Given the description of an element on the screen output the (x, y) to click on. 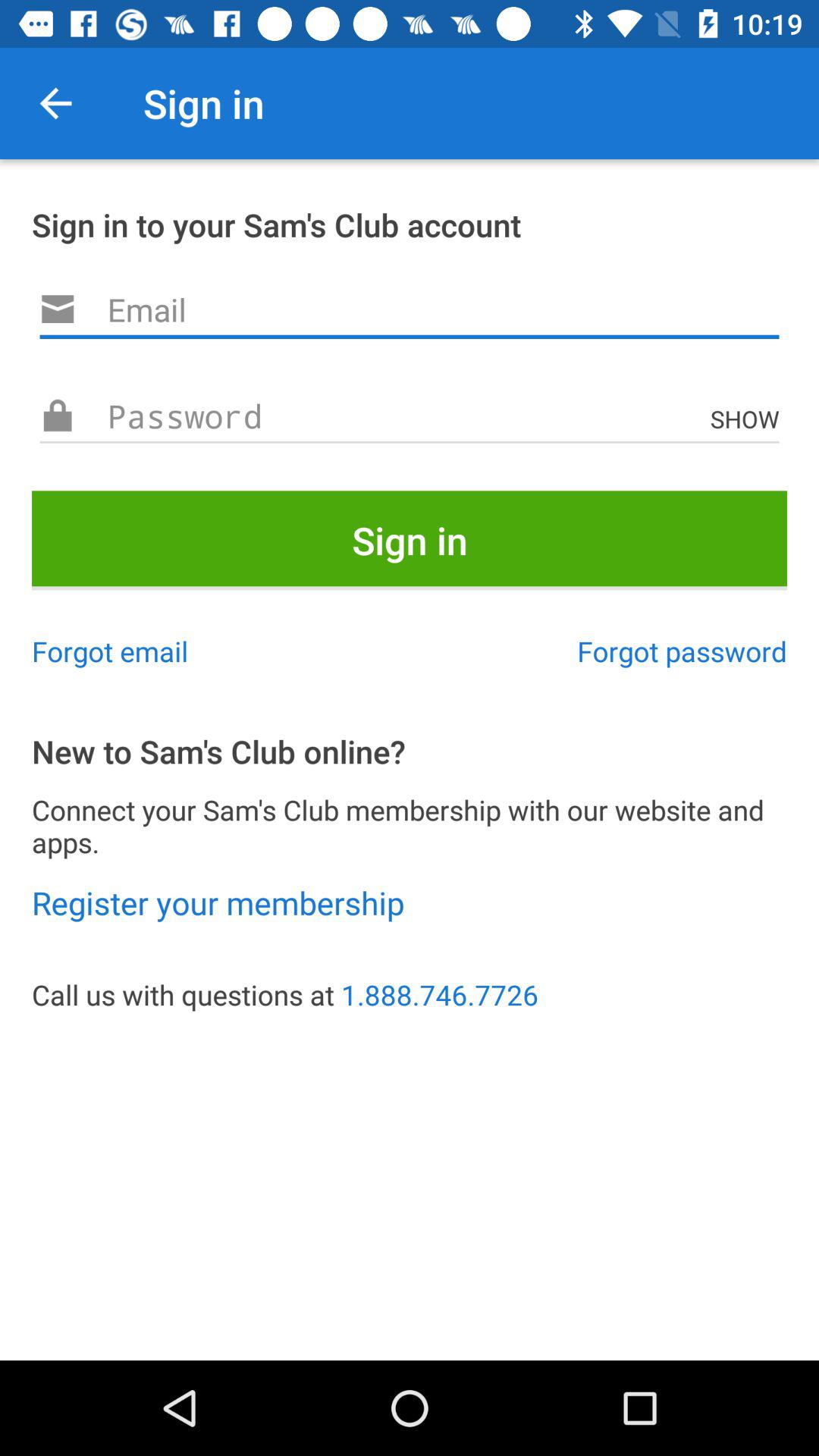
open the icon above the new to sam (682, 650)
